Given the description of an element on the screen output the (x, y) to click on. 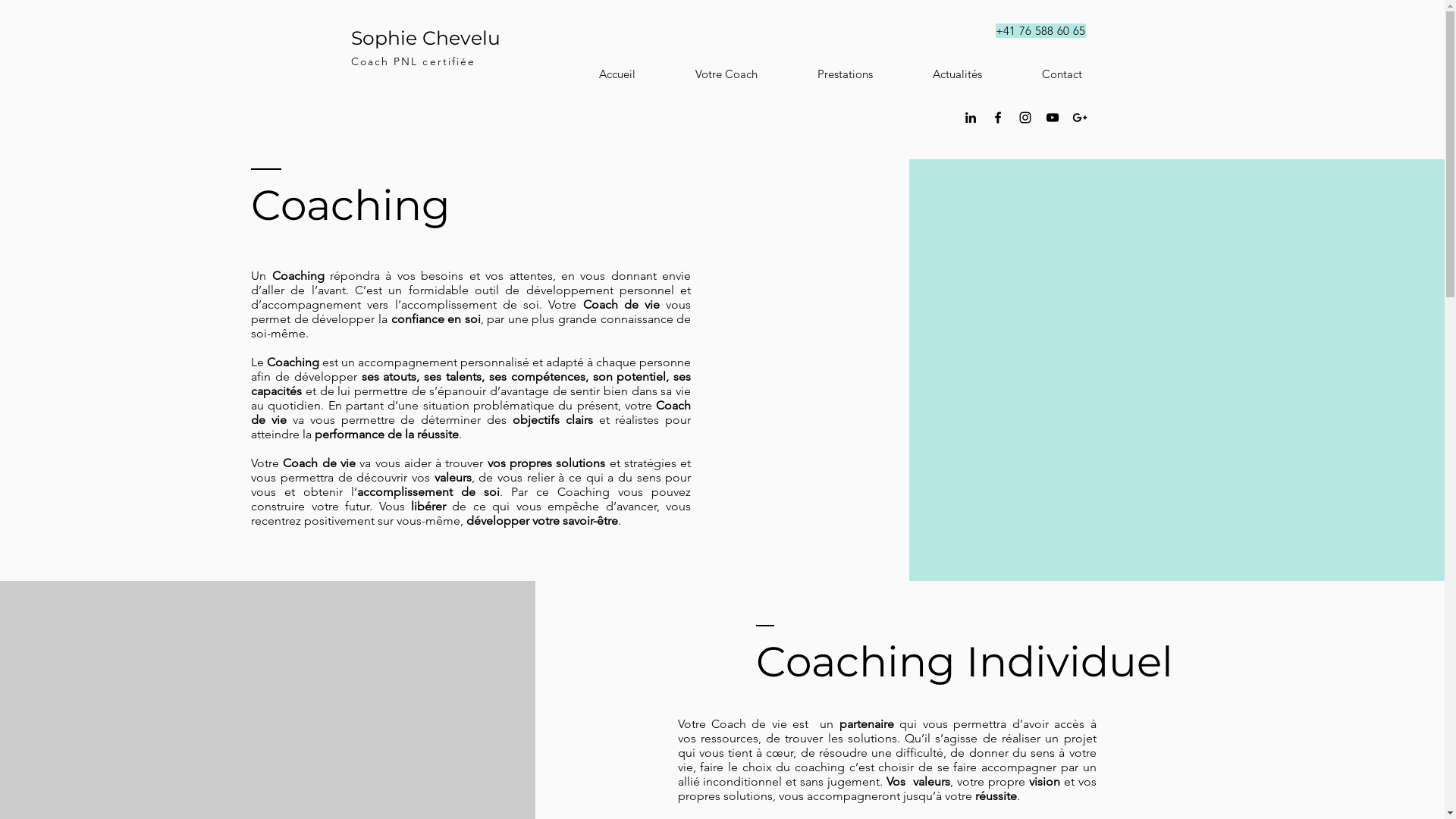
Sophie Chevelu Element type: text (424, 37)
Votre Coach Element type: text (707, 74)
Contact Element type: text (1043, 74)
+41 76 588 60 65 Element type: text (1040, 30)
Accueil Element type: text (597, 74)
